Given the description of an element on the screen output the (x, y) to click on. 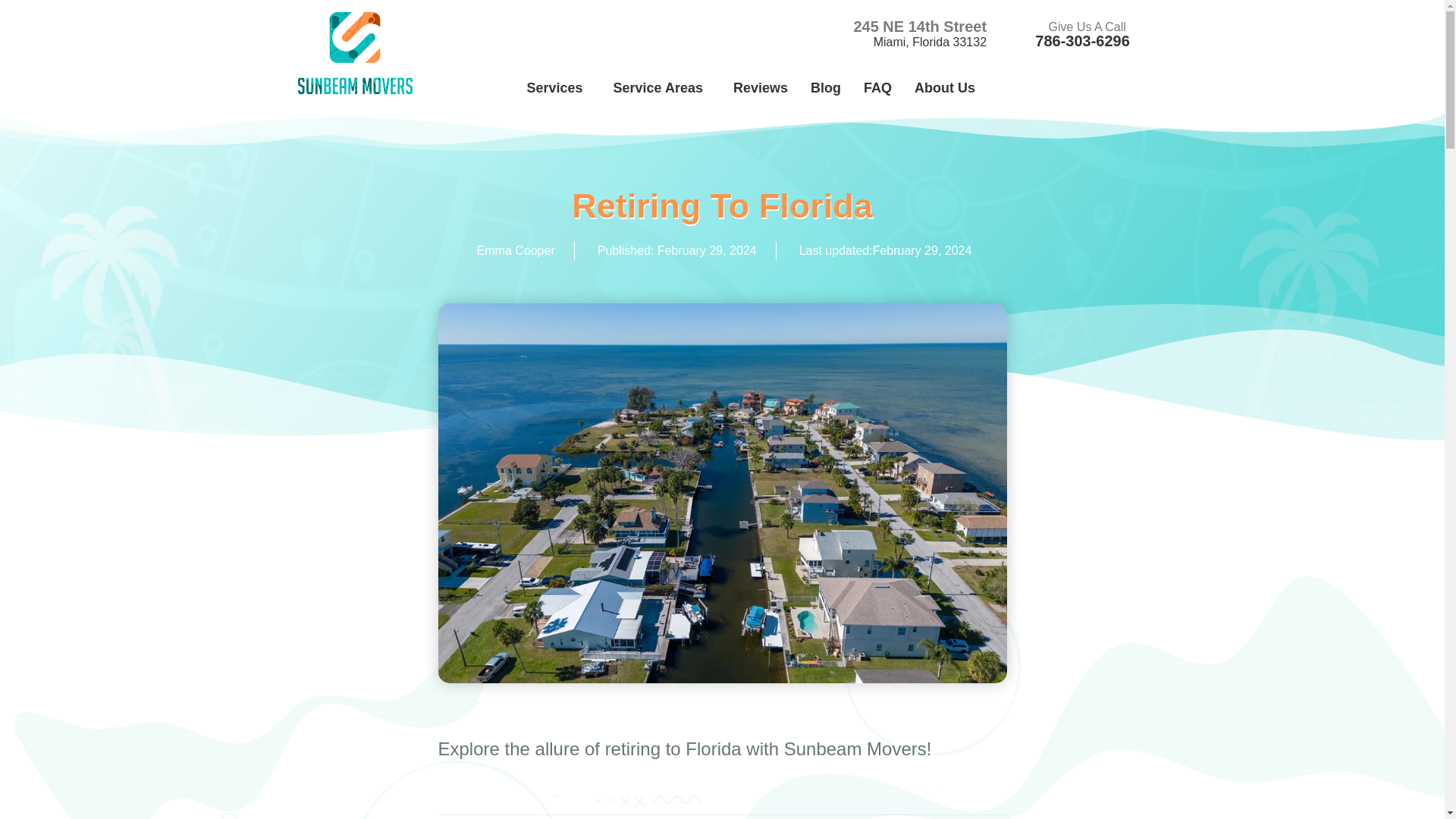
Free Quote (1082, 84)
Service Areas (662, 87)
Reviews (760, 87)
Services (558, 87)
FAQ (876, 87)
About Us (948, 87)
Published: February 29, 2024 (675, 250)
Emma Cooper (513, 250)
Blog (825, 87)
